Given the description of an element on the screen output the (x, y) to click on. 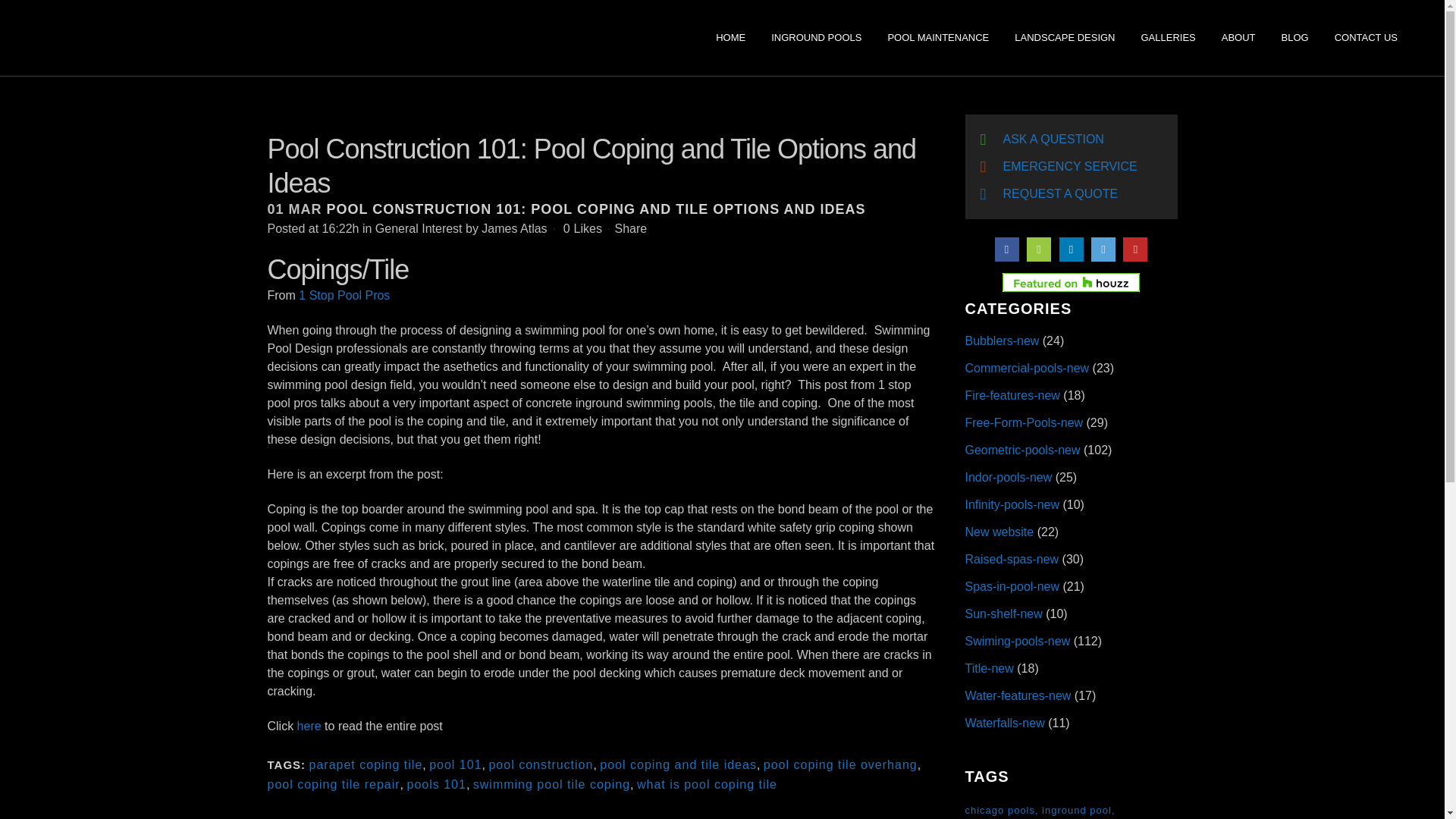
LANDSCAPE DESIGN (1063, 38)
GALLERIES (1168, 38)
POOL MAINTENANCE (938, 38)
INGROUND POOLS (816, 38)
Like this (582, 228)
